Given the description of an element on the screen output the (x, y) to click on. 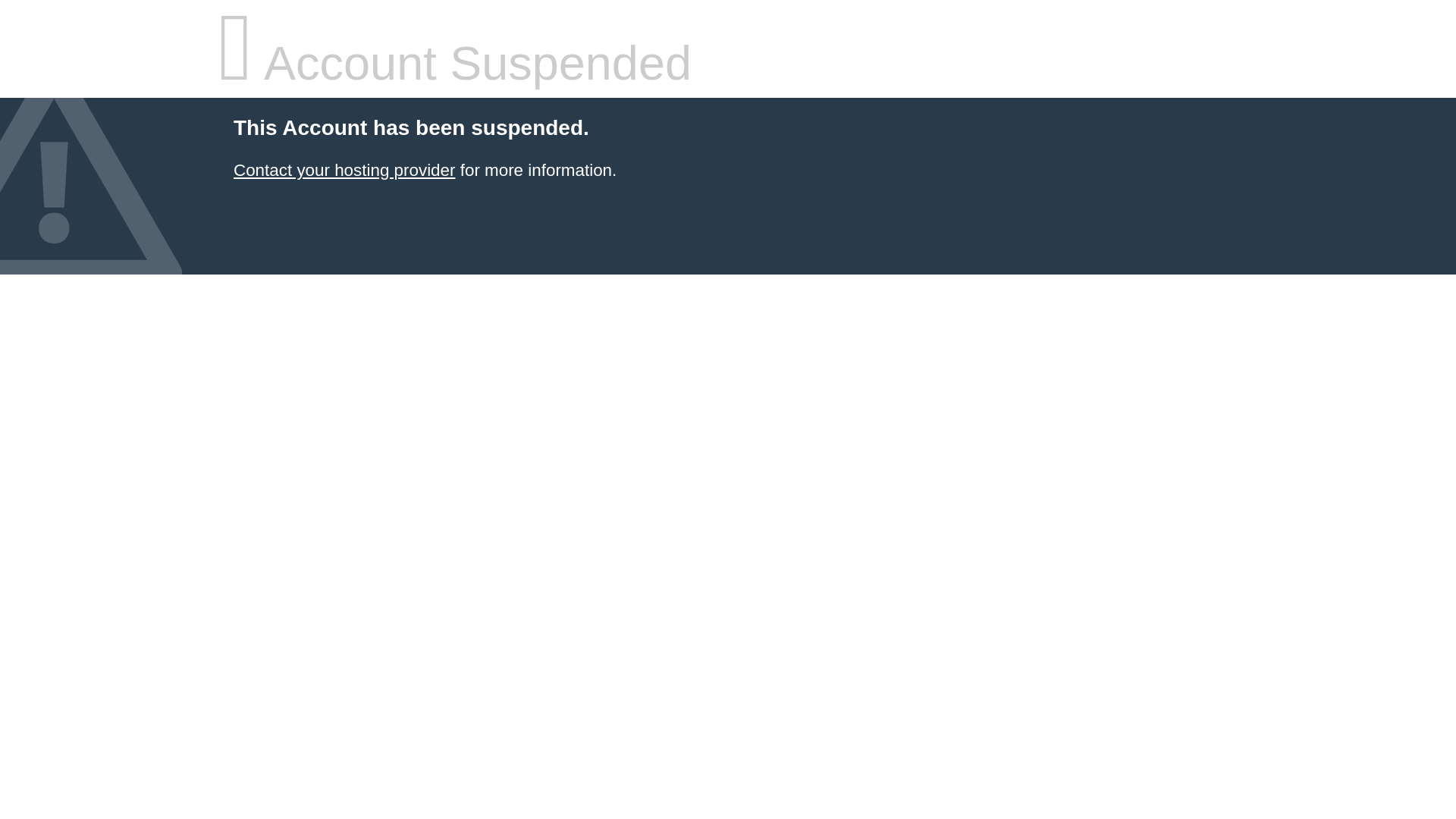
Contact your hosting provider (343, 169)
